Given the description of an element on the screen output the (x, y) to click on. 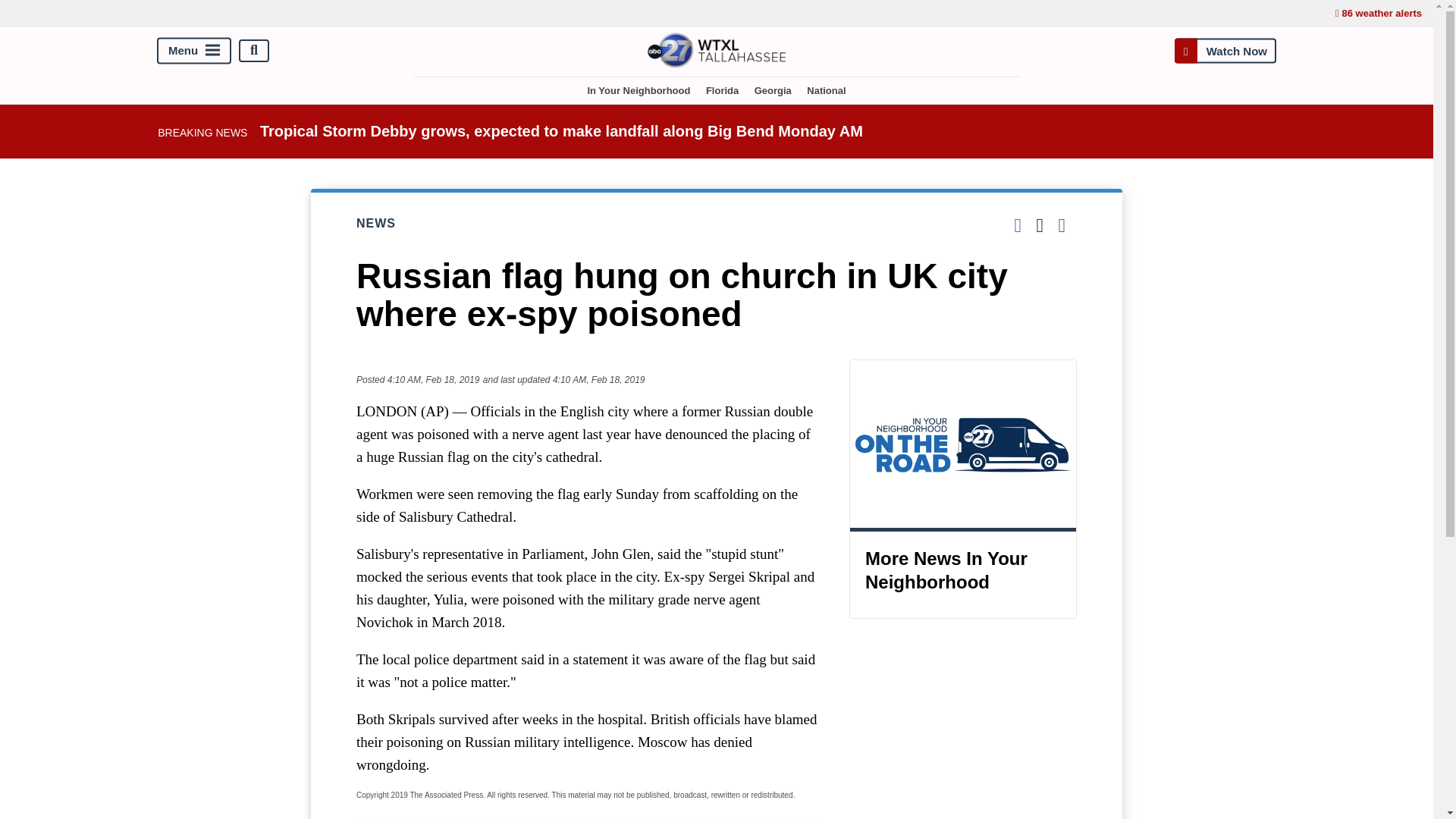
Menu (194, 49)
Watch Now (1224, 50)
